Given the description of an element on the screen output the (x, y) to click on. 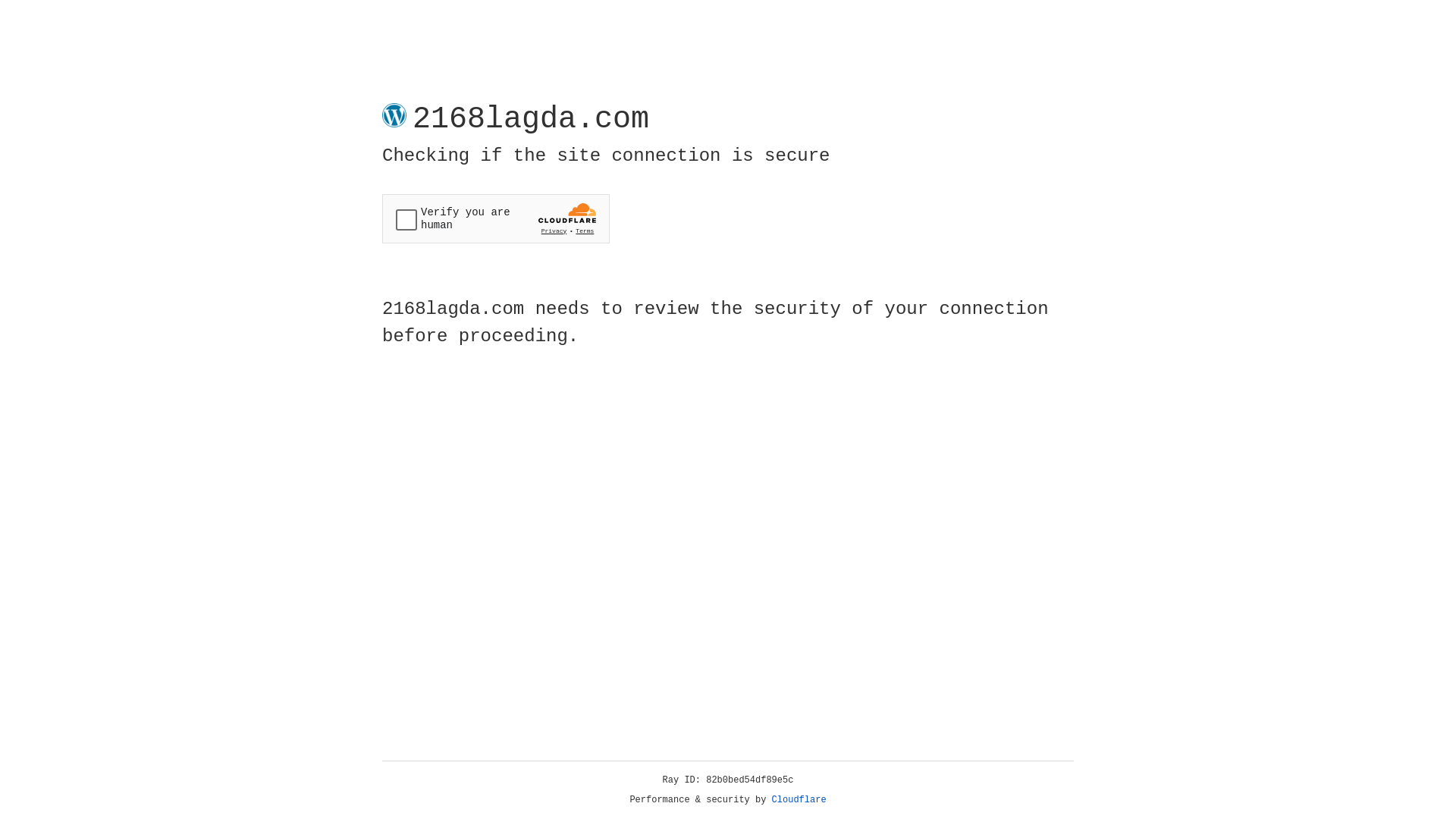
Widget containing a Cloudflare security challenge Element type: hover (495, 218)
Cloudflare Element type: text (798, 799)
